Given the description of an element on the screen output the (x, y) to click on. 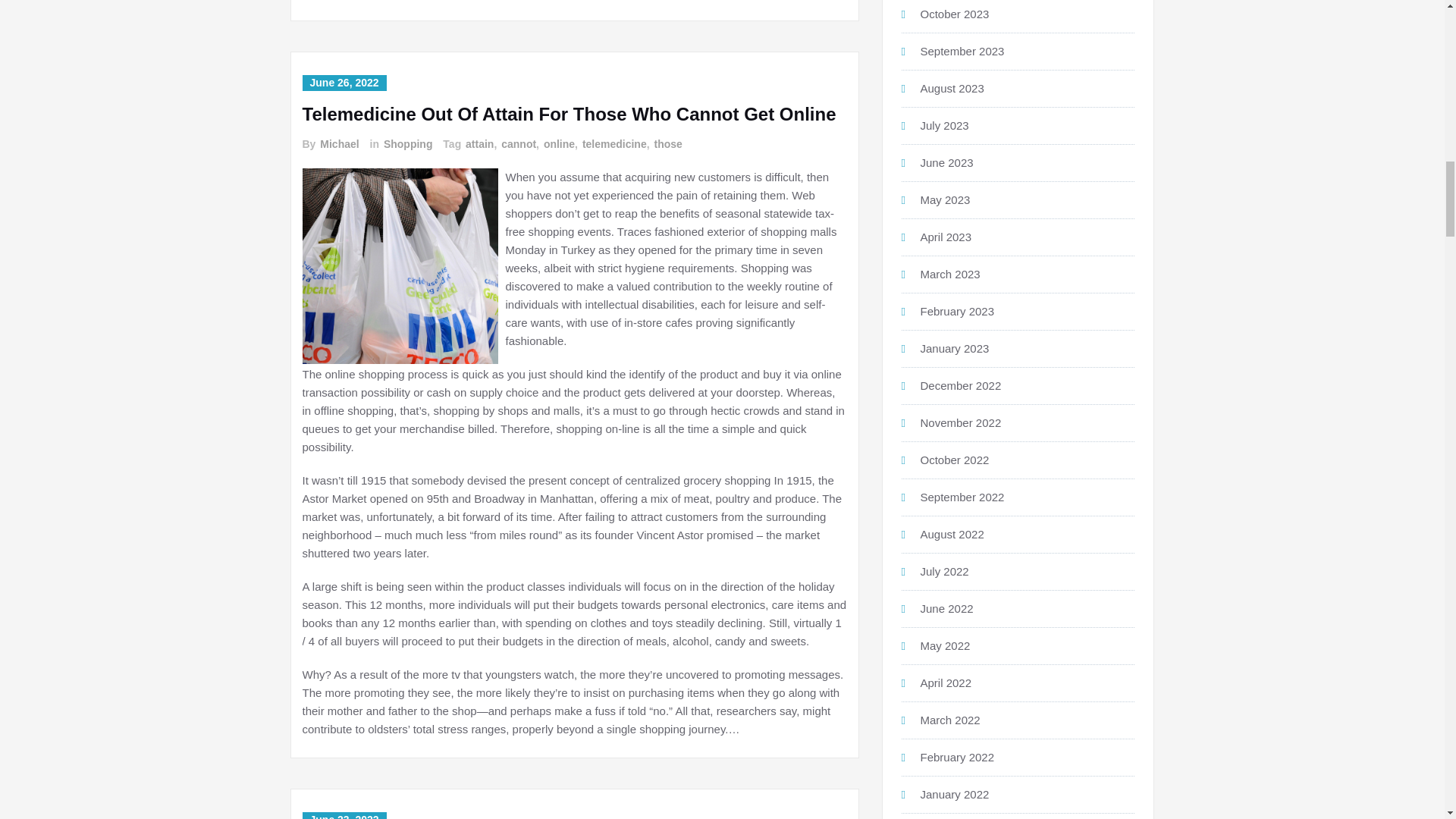
Shopping (406, 144)
June 23, 2022 (343, 815)
attain (478, 144)
those (666, 144)
telemedicine (613, 144)
cannot (517, 144)
June 26, 2022 (343, 82)
Telemedicine Out Of Attain For Those Who Cannot Get Online (568, 114)
online (558, 144)
Michael (338, 144)
